Given the description of an element on the screen output the (x, y) to click on. 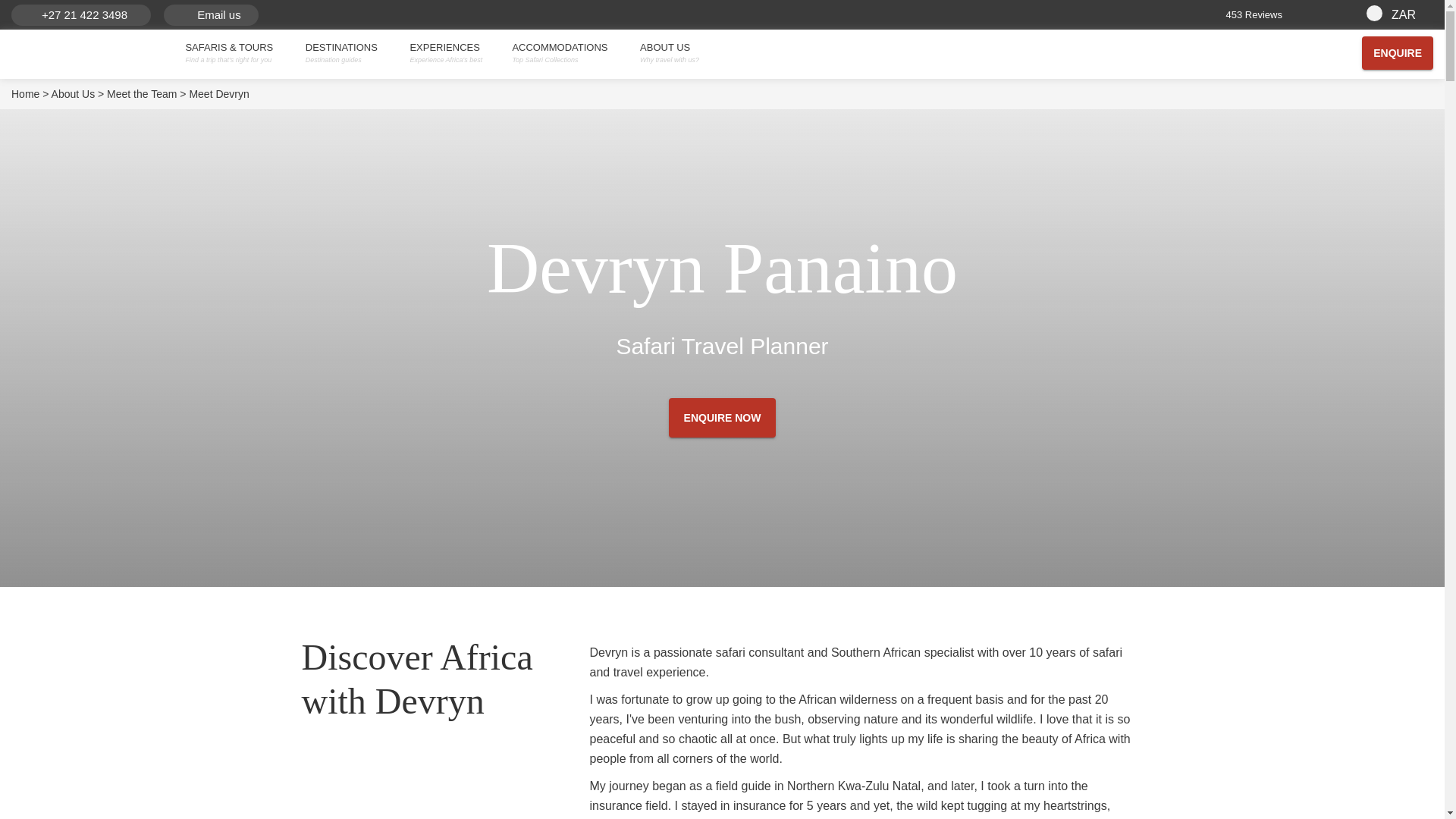
Destination guides (346, 59)
453 Reviews (1291, 14)
DESTINATIONS (346, 47)
Email us (206, 14)
Find a trip that's right for you (233, 59)
